Given the description of an element on the screen output the (x, y) to click on. 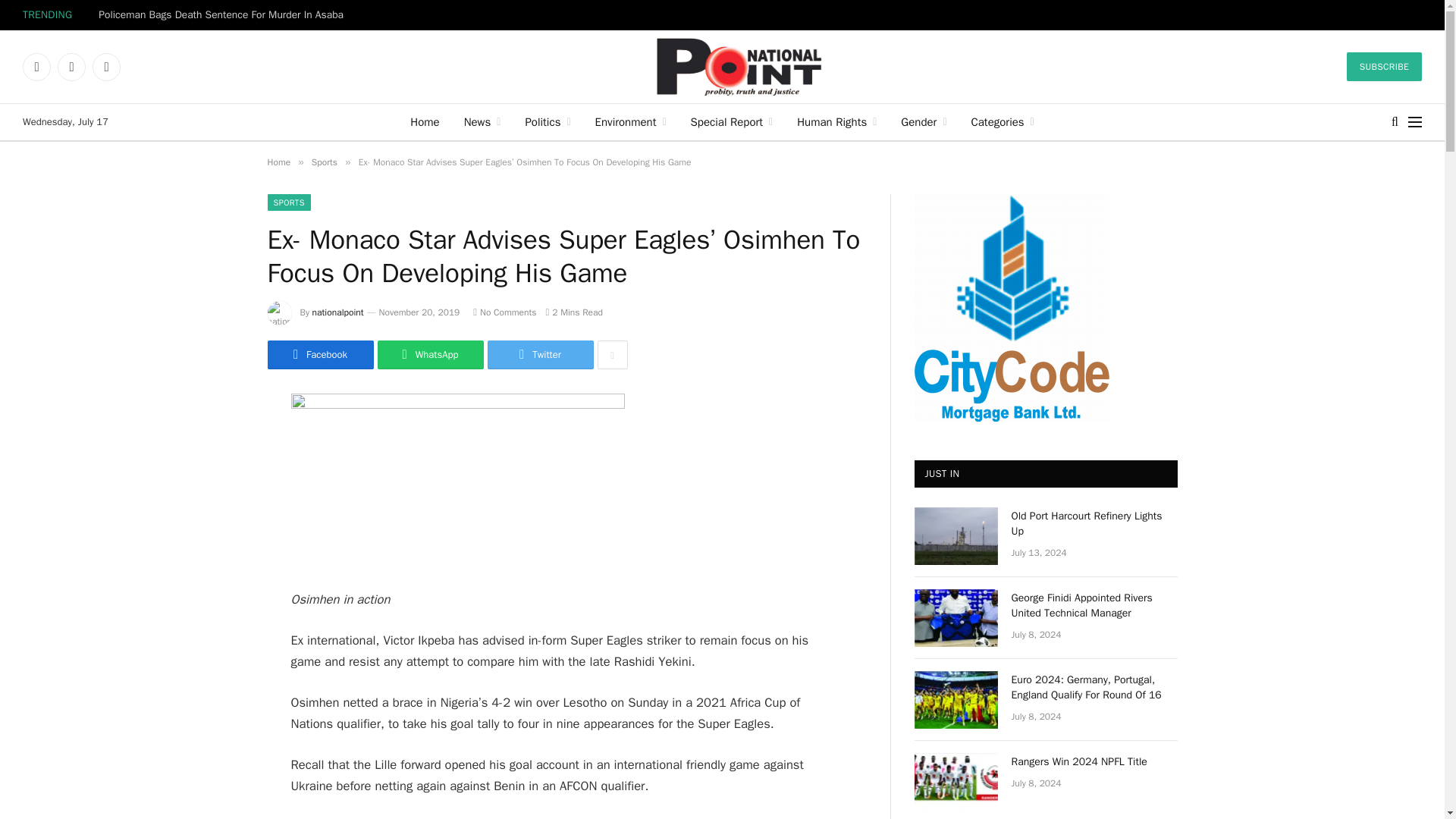
Twitter (71, 67)
Facebook (36, 67)
News (482, 122)
Instagram (106, 67)
Policeman Bags Death Sentence For Murder In Asaba (224, 15)
Home (424, 122)
SUBSCRIBE (1384, 66)
